Given the description of an element on the screen output the (x, y) to click on. 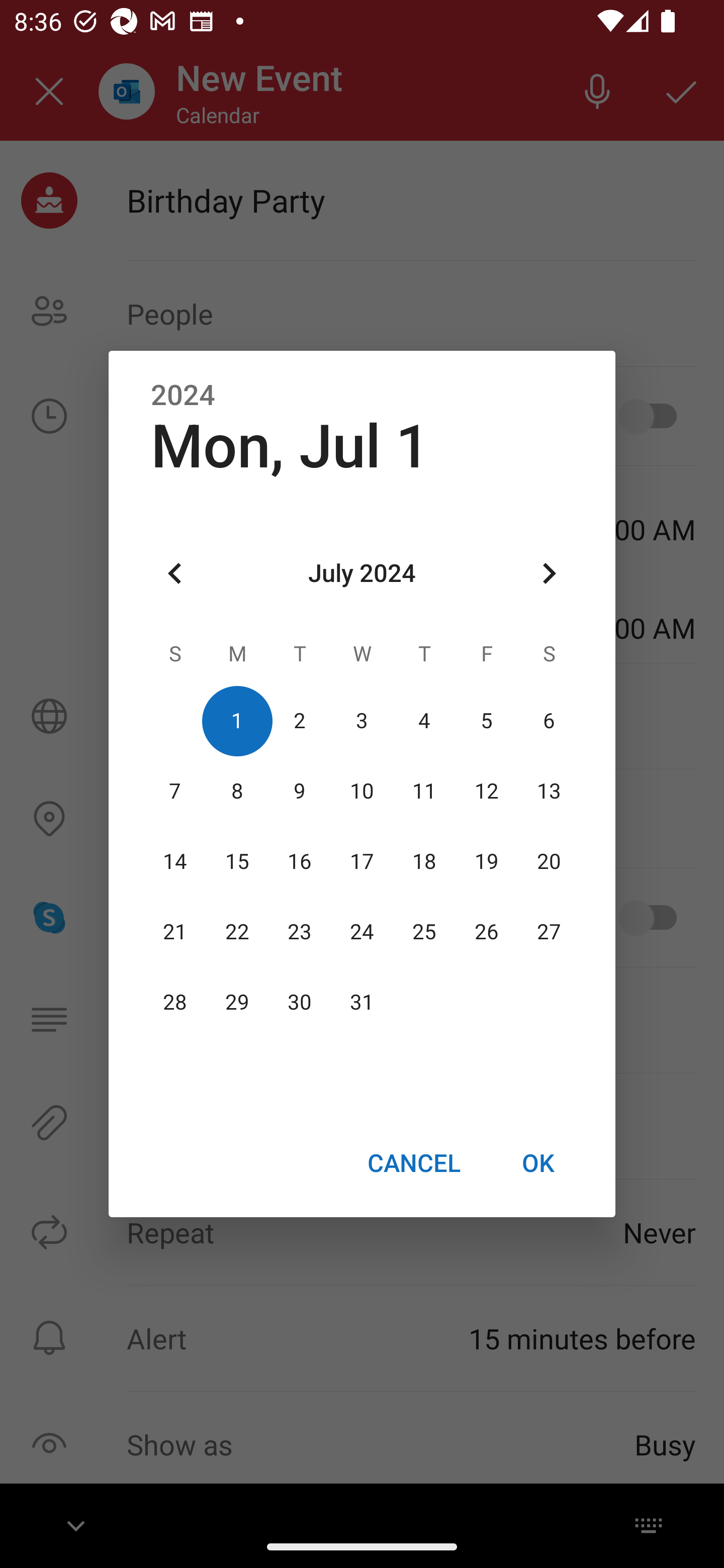
2024 (182, 395)
Mon, Jul 1 (290, 446)
Previous month (174, 573)
Next month (548, 573)
1 01 July 2024 (237, 720)
2 02 July 2024 (299, 720)
3 03 July 2024 (361, 720)
4 04 July 2024 (424, 720)
5 05 July 2024 (486, 720)
6 06 July 2024 (548, 720)
7 07 July 2024 (175, 790)
8 08 July 2024 (237, 790)
9 09 July 2024 (299, 790)
10 10 July 2024 (361, 790)
11 11 July 2024 (424, 790)
12 12 July 2024 (486, 790)
13 13 July 2024 (548, 790)
14 14 July 2024 (175, 861)
15 15 July 2024 (237, 861)
16 16 July 2024 (299, 861)
17 17 July 2024 (361, 861)
18 18 July 2024 (424, 861)
19 19 July 2024 (486, 861)
20 20 July 2024 (548, 861)
21 21 July 2024 (175, 931)
22 22 July 2024 (237, 931)
23 23 July 2024 (299, 931)
24 24 July 2024 (361, 931)
25 25 July 2024 (424, 931)
26 26 July 2024 (486, 931)
27 27 July 2024 (548, 931)
28 28 July 2024 (175, 1002)
29 29 July 2024 (237, 1002)
30 30 July 2024 (299, 1002)
31 31 July 2024 (361, 1002)
CANCEL (413, 1162)
OK (537, 1162)
